Given the description of an element on the screen output the (x, y) to click on. 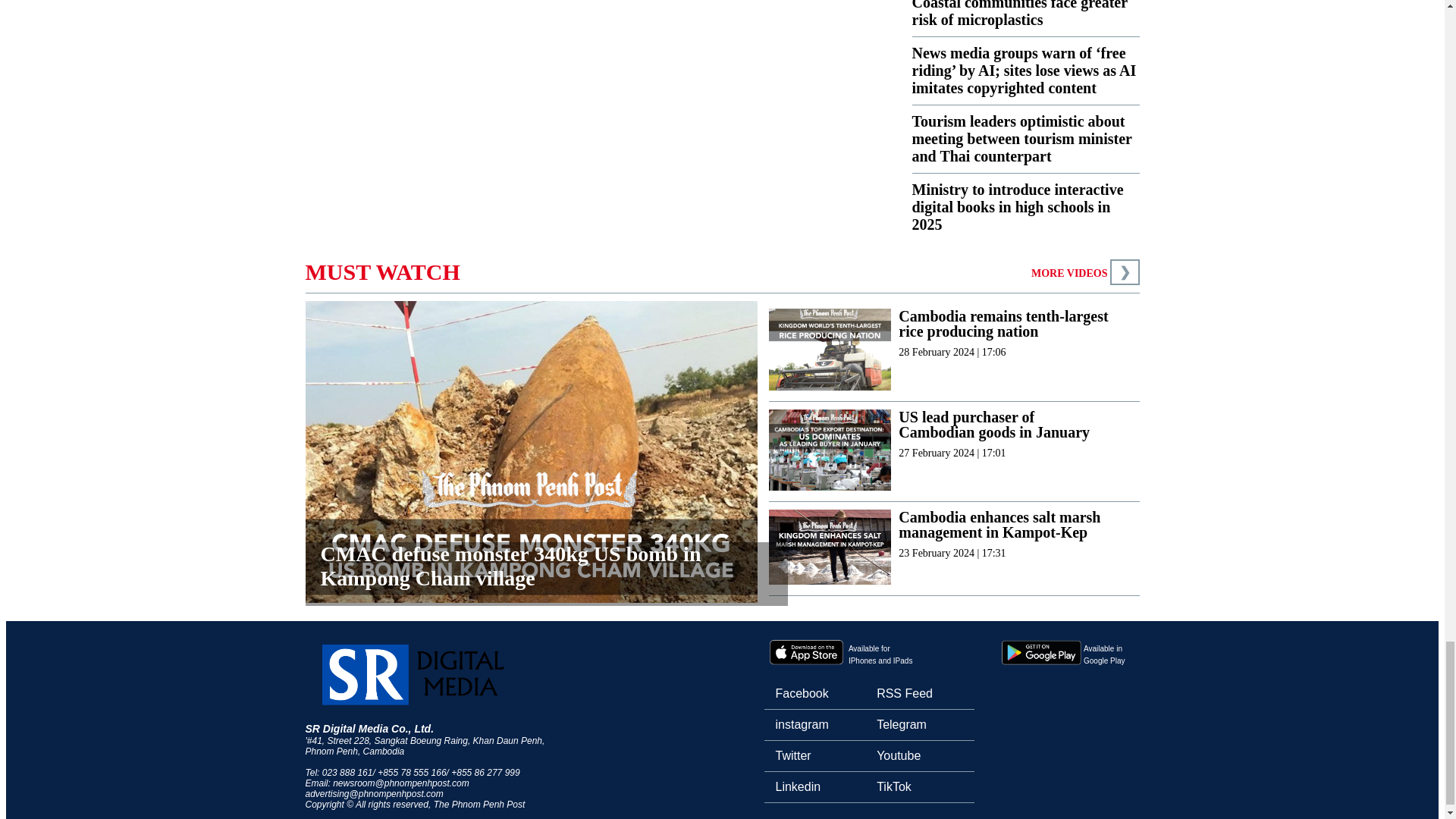
CMAC defuse monster 340kg US bomb in Kampong Cham village (545, 574)
Cambodia remains tenth-largest rice producing nation (1005, 323)
MORE VIDEOS (1068, 273)
Coastal communities face greater risk of microplastics (1018, 13)
